Given the description of an element on the screen output the (x, y) to click on. 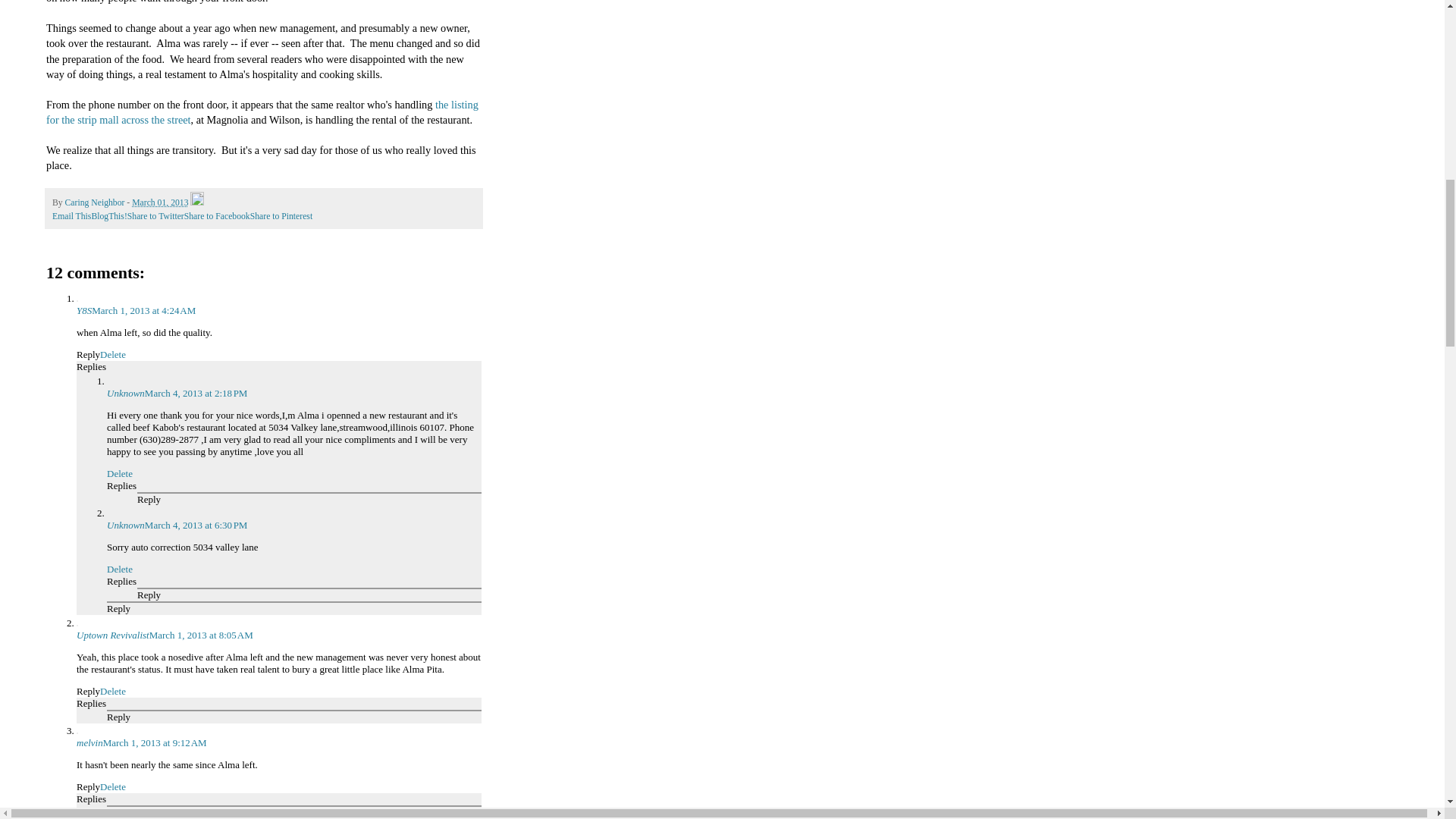
Replies (121, 485)
Caring Neighbor (96, 203)
March 01, 2013 (159, 203)
Reply (118, 716)
Share to Twitter (156, 216)
Reply (118, 608)
Reply (148, 499)
Replies (91, 366)
Delete (112, 354)
the listing for the strip mall across the street (262, 112)
Unknown (125, 524)
Share to Facebook (217, 216)
Share to Twitter (156, 216)
